Given the description of an element on the screen output the (x, y) to click on. 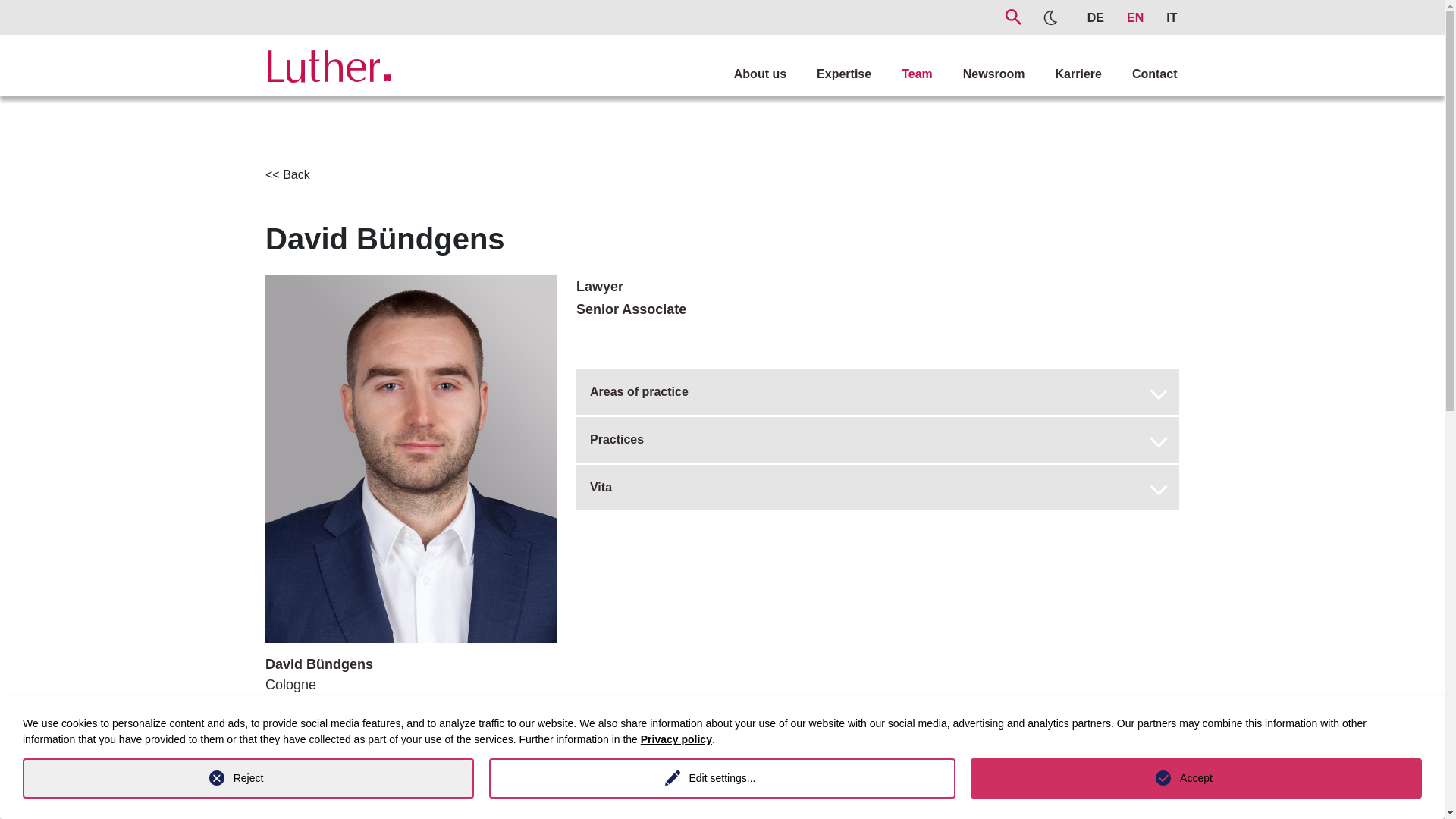
Contact (1139, 59)
Karriere (1063, 59)
EN (1131, 13)
Newsroom (979, 59)
About us (744, 59)
IT (1163, 13)
Karriere (1063, 59)
IT (1163, 13)
DE (1088, 13)
Expertise (828, 59)
Team (901, 59)
Expertise (828, 59)
Team (901, 59)
Contact (1139, 59)
DE (1088, 13)
